Given the description of an element on the screen output the (x, y) to click on. 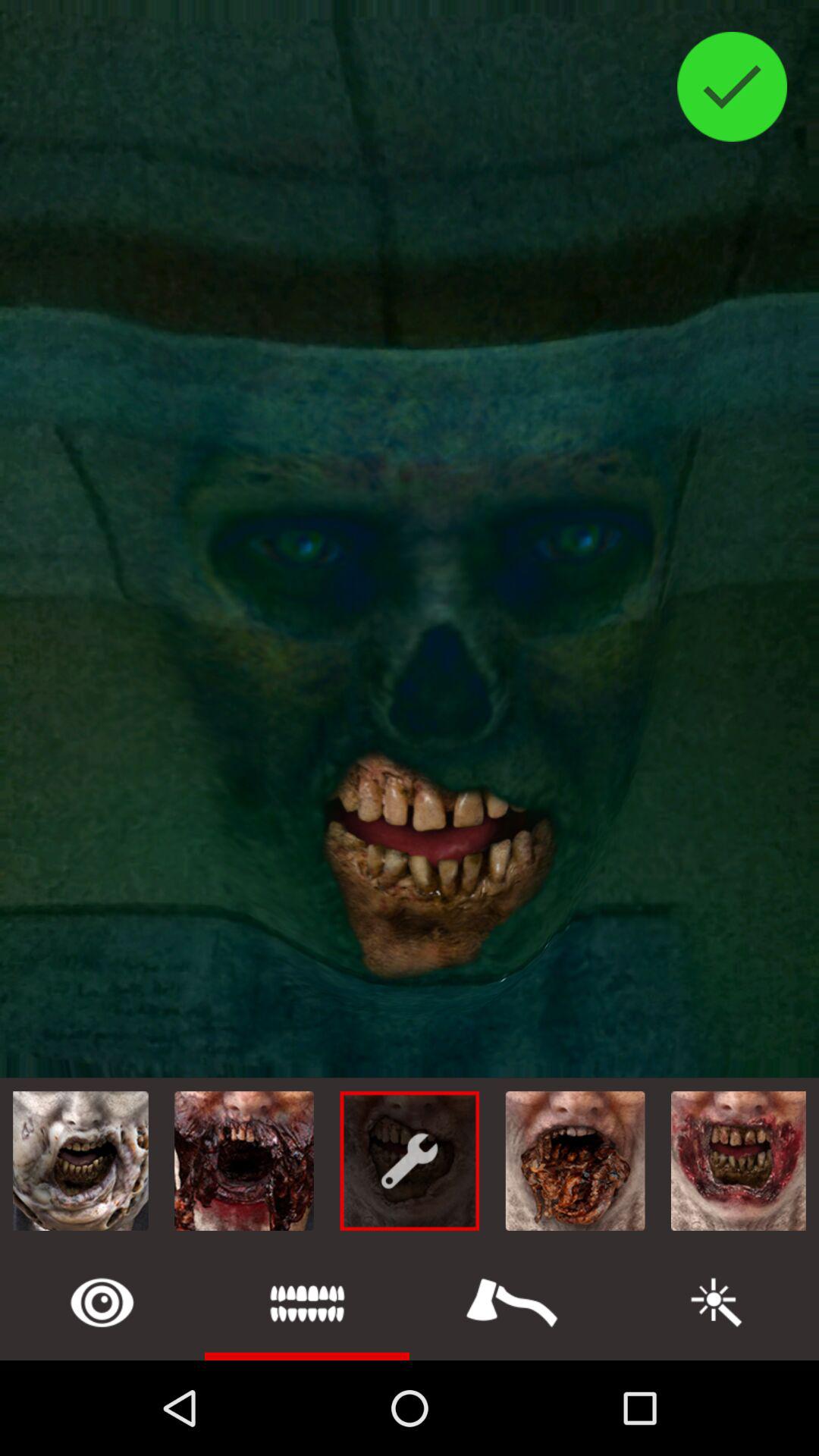
use axe tool (511, 1302)
